Given the description of an element on the screen output the (x, y) to click on. 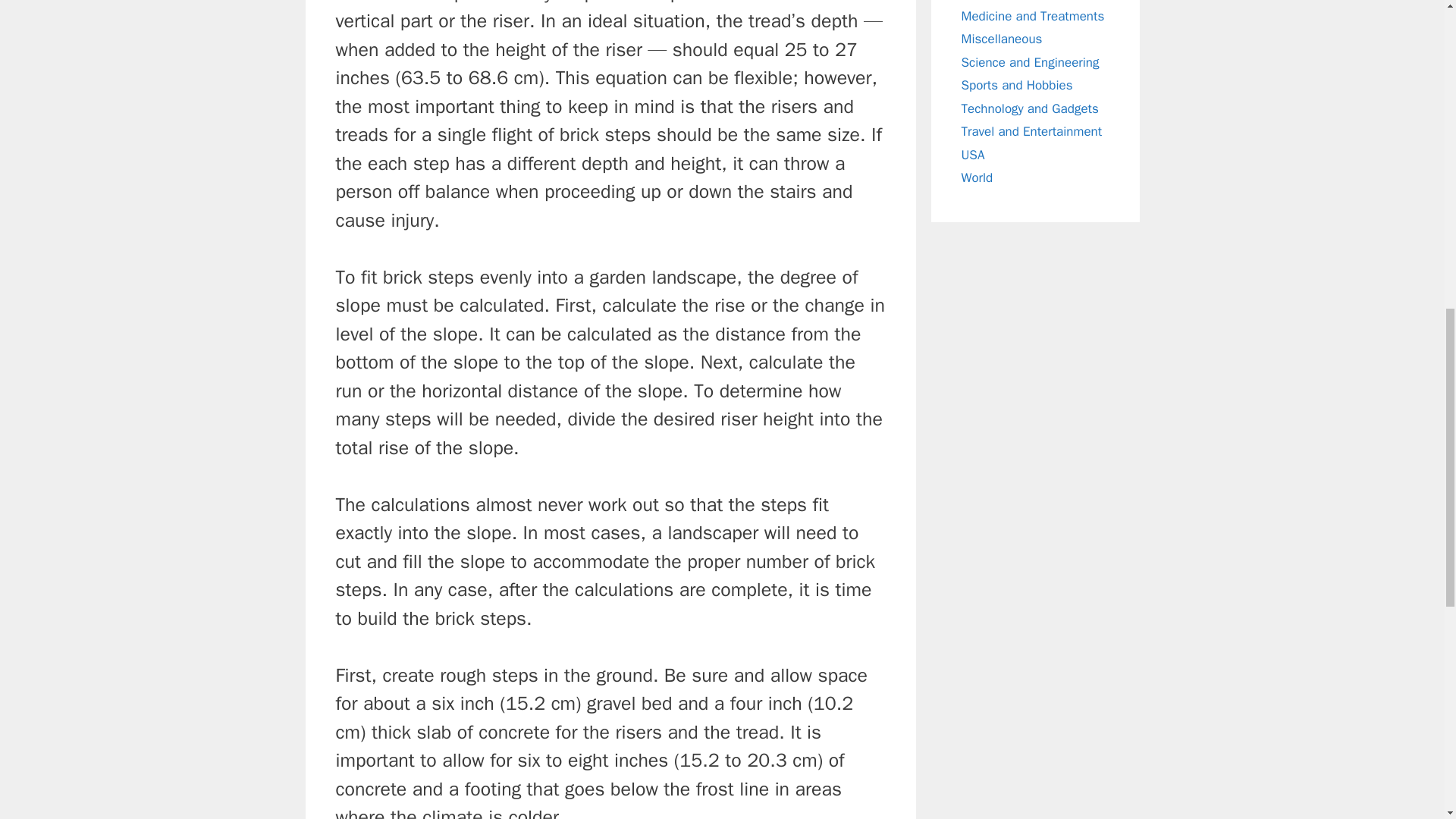
Medicine and Treatments (1032, 15)
USA (972, 154)
Travel and Entertainment (1031, 131)
Science and Engineering (1029, 62)
Miscellaneous (1001, 38)
World (976, 177)
Technology and Gadgets (1029, 107)
Sports and Hobbies (1016, 84)
